Given the description of an element on the screen output the (x, y) to click on. 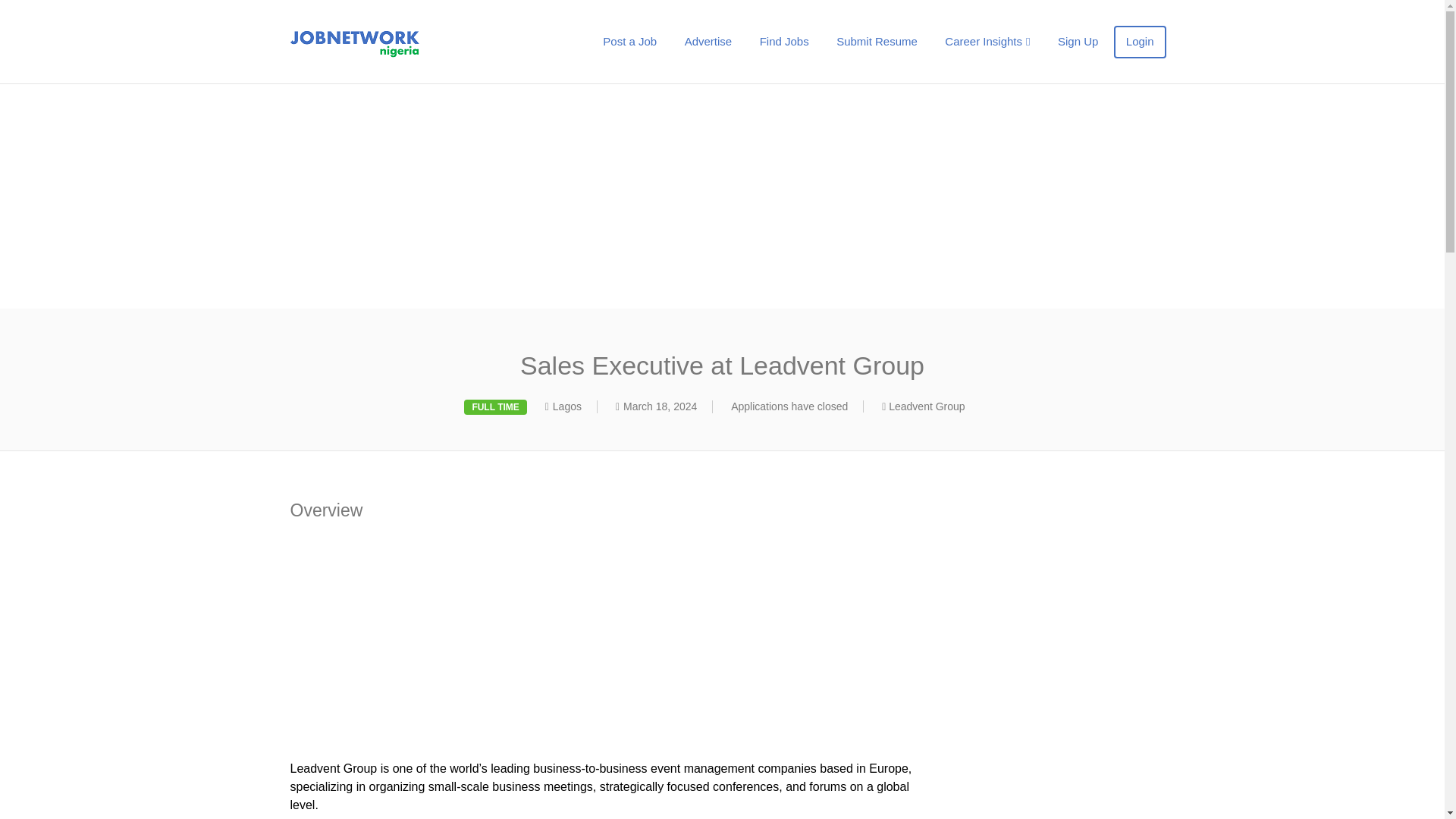
Submit Resume (877, 41)
Leadvent Group (925, 406)
Career Insights (987, 41)
Find Jobs (784, 41)
Post a Job (629, 41)
Lagos (566, 406)
Advertise (708, 41)
Login (1139, 41)
Sign Up (1077, 41)
